Given the description of an element on the screen output the (x, y) to click on. 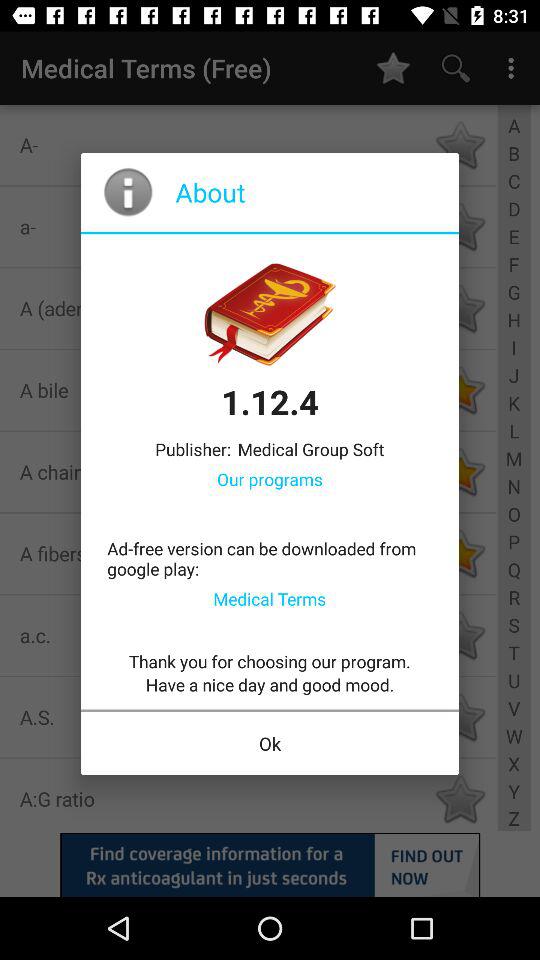
tap icon above thank you for item (269, 598)
